Given the description of an element on the screen output the (x, y) to click on. 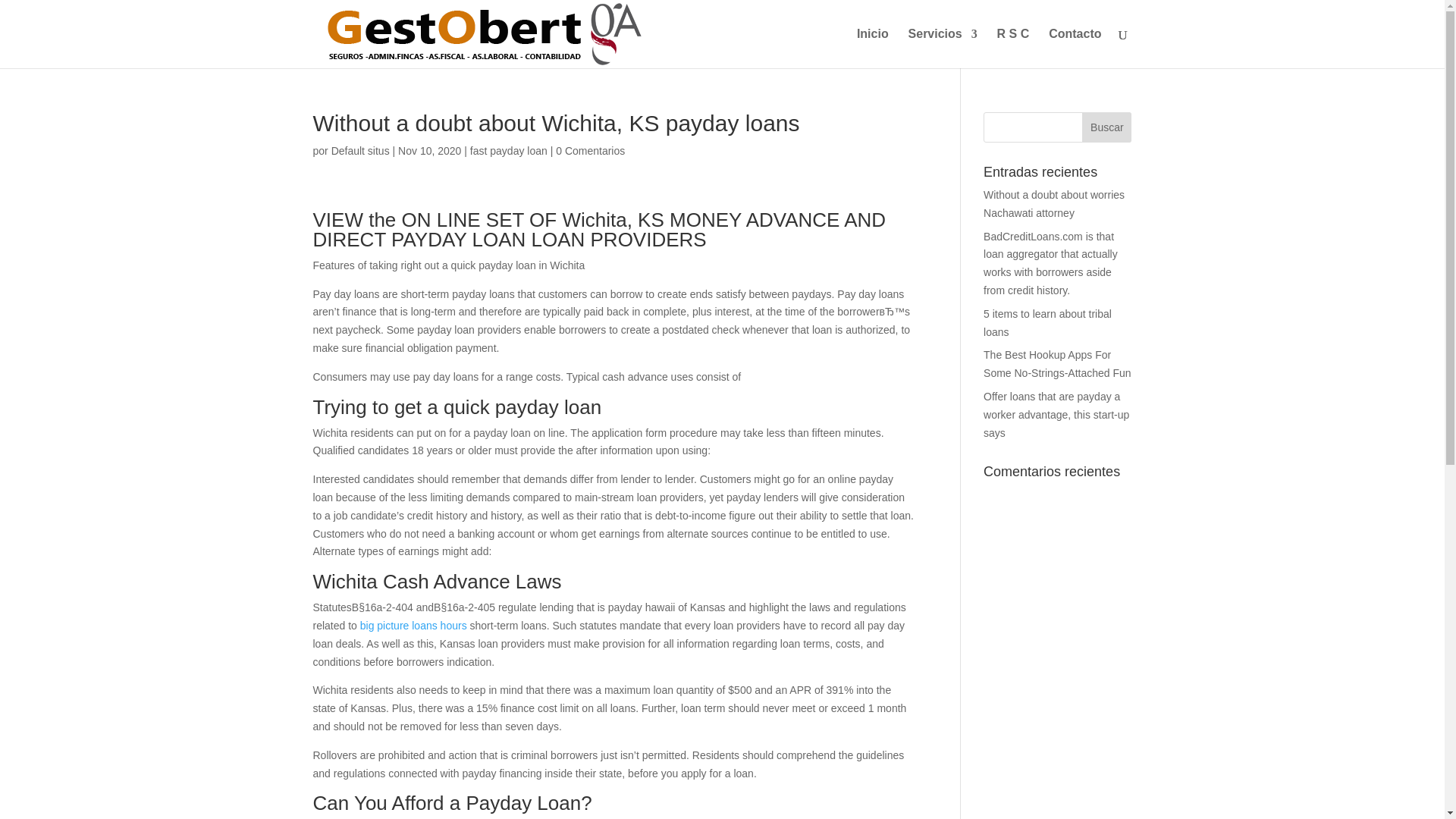
5 items to learn about tribal loans (1048, 322)
big picture loans hours (413, 625)
Without a doubt about worries Nachawati attorney (1054, 204)
Buscar (1106, 127)
Default situs (360, 150)
Servicios (942, 47)
The Best Hookup Apps For Some No-Strings-Attached Fun (1057, 363)
fast payday loan (508, 150)
Contacto (1074, 47)
